Given the description of an element on the screen output the (x, y) to click on. 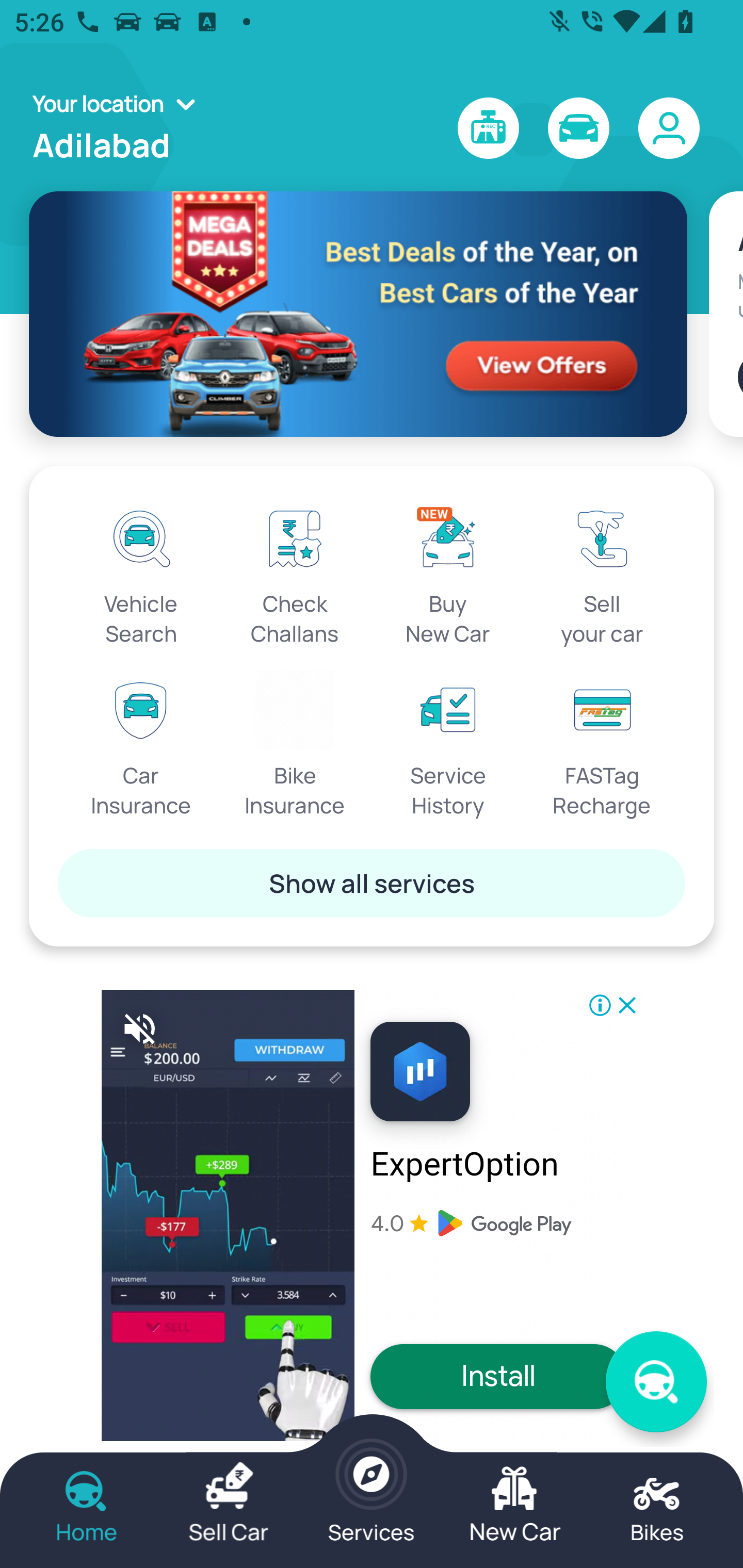
Your location Adilabad (119, 128)
Add vehicle (740, 376)
Vehicle
Search (141, 572)
Check
Challans (294, 572)
Buy
New Car (447, 572)
Sell
your car (601, 572)
Car
Insurance (141, 744)
Bike
Insurance (294, 744)
Service
History (447, 744)
FASTag Recharge (601, 744)
Show all services (371, 882)
Install (498, 1376)
